Given the description of an element on the screen output the (x, y) to click on. 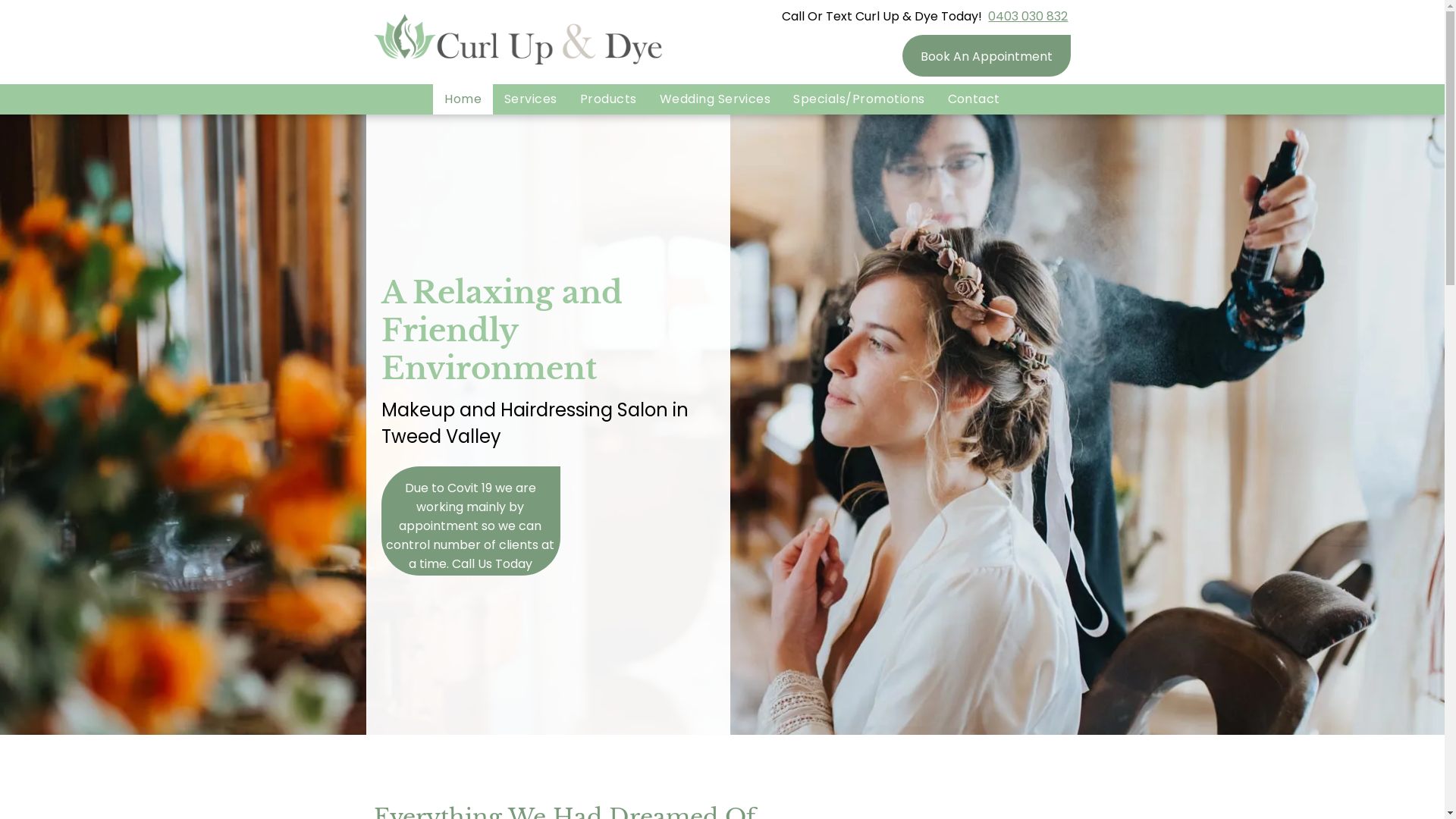
Book An Appointment Element type: text (986, 55)
Home Element type: text (462, 99)
0403 030 832 Element type: text (1027, 16)
Products Element type: text (608, 99)
Wedding Services Element type: text (715, 99)
Services Element type: text (530, 99)
Contact Element type: text (973, 99)
Specials/Promotions Element type: text (858, 99)
